Given the description of an element on the screen output the (x, y) to click on. 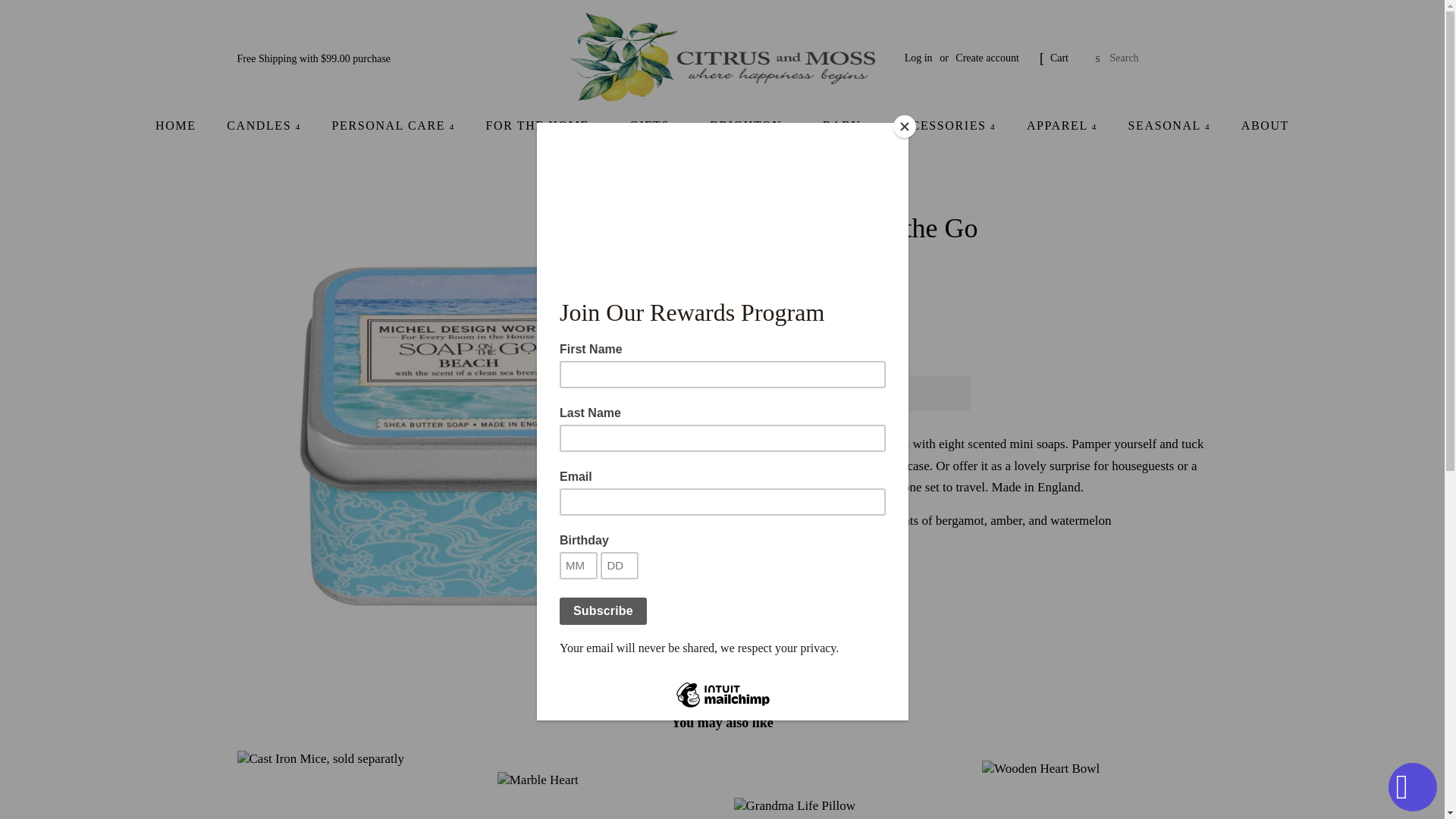
Cart (1058, 58)
Back to the frontpage (664, 182)
SEARCH (1097, 58)
Create account (987, 57)
Log in (918, 57)
